Given the description of an element on the screen output the (x, y) to click on. 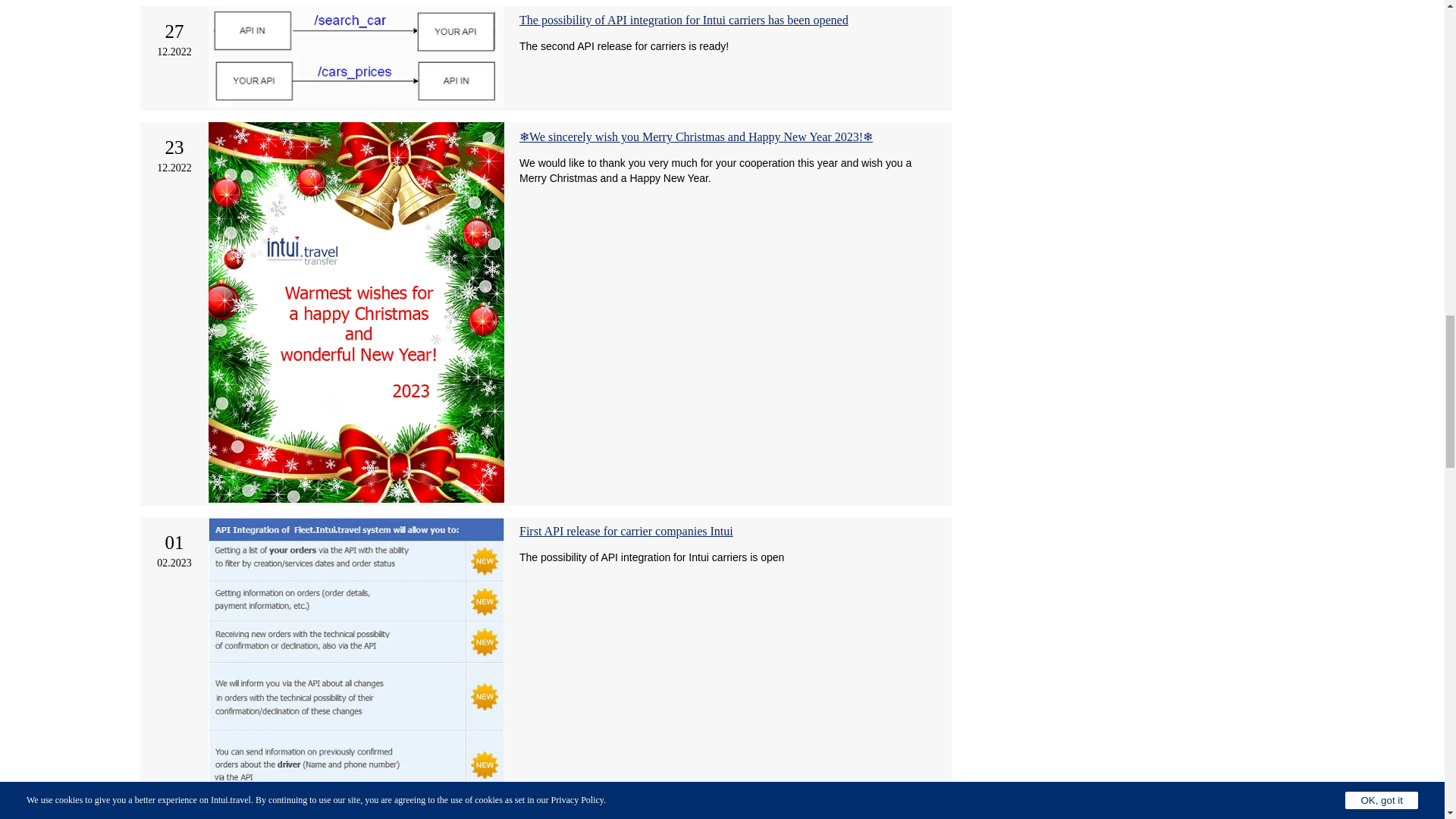
First API release for carrier companies Intui (626, 530)
First API release for carrier companies Intui (626, 530)
